Given the description of an element on the screen output the (x, y) to click on. 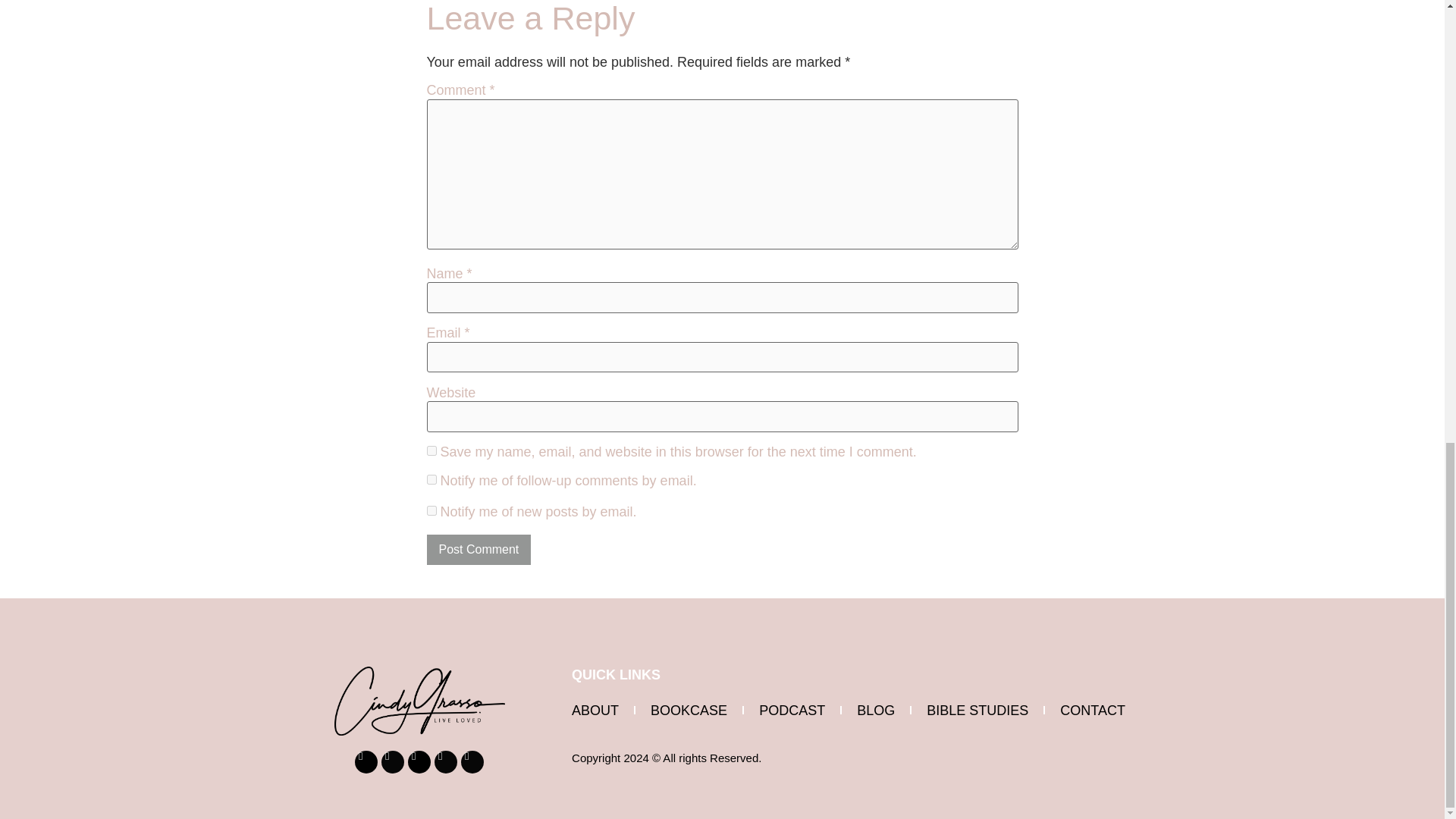
BIBLE STUDIES (977, 710)
Post Comment (478, 549)
subscribe (430, 510)
yes (430, 450)
Post Comment (478, 549)
BLOG (875, 710)
BOOKCASE (688, 710)
ABOUT (594, 710)
PODCAST (792, 710)
subscribe (430, 479)
